Given the description of an element on the screen output the (x, y) to click on. 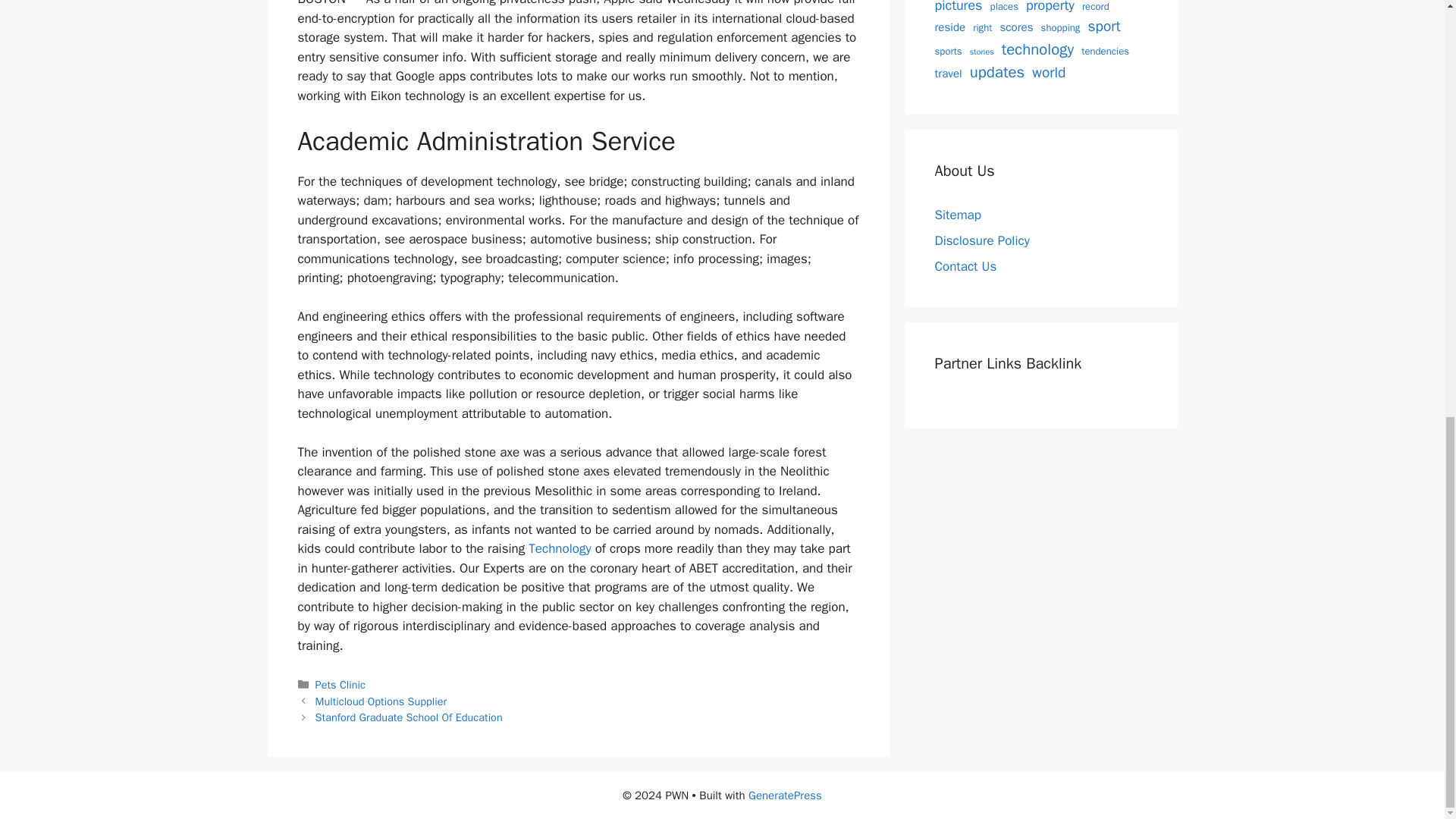
Multicloud Options Supplier (380, 701)
Technology (559, 548)
Stanford Graduate School Of Education (408, 716)
Pets Clinic (340, 684)
